Given the description of an element on the screen output the (x, y) to click on. 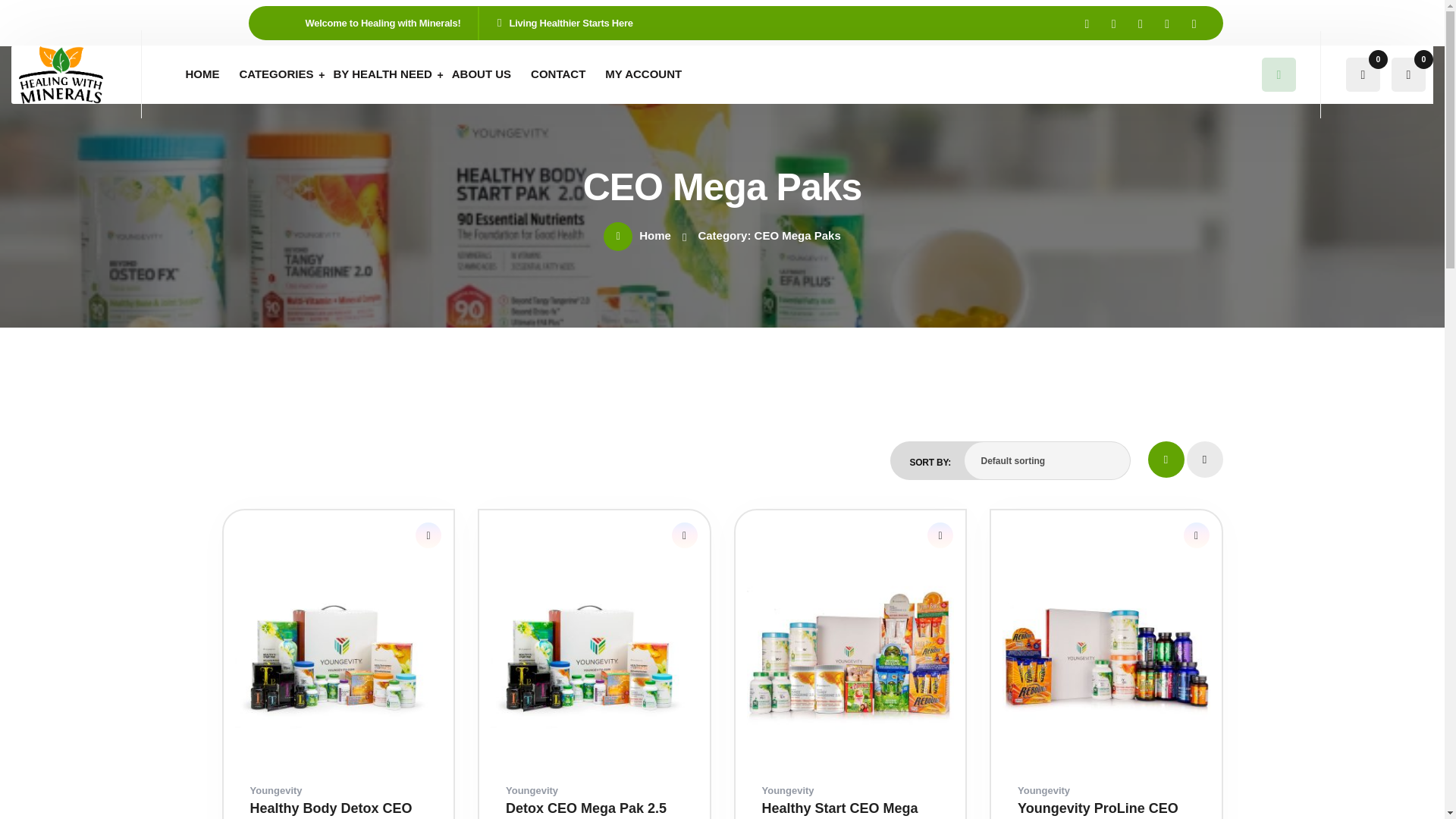
BY HEALTH NEED (381, 73)
CATEGORIES (275, 73)
HOME (202, 73)
